Given the description of an element on the screen output the (x, y) to click on. 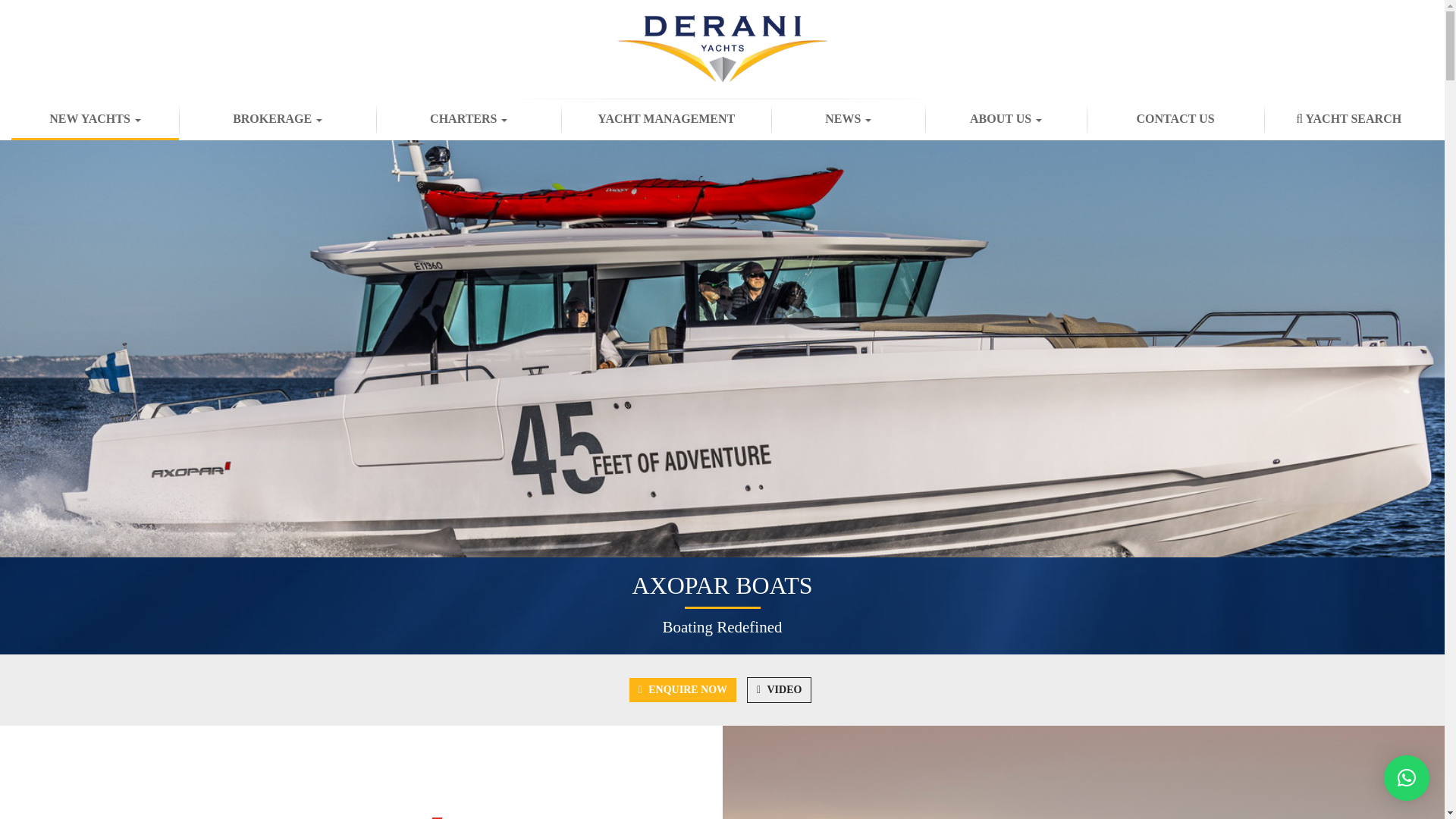
CONTACT US (1174, 119)
NEW YACHTS (95, 119)
ABOUT US (1005, 119)
YACHT MANAGEMENT (665, 119)
YACHT SEARCH (1347, 119)
VIDEO (778, 689)
BROKERAGE (277, 119)
NEWS (847, 119)
CHARTERS (467, 119)
ENQUIRE NOW (682, 689)
